Given the description of an element on the screen output the (x, y) to click on. 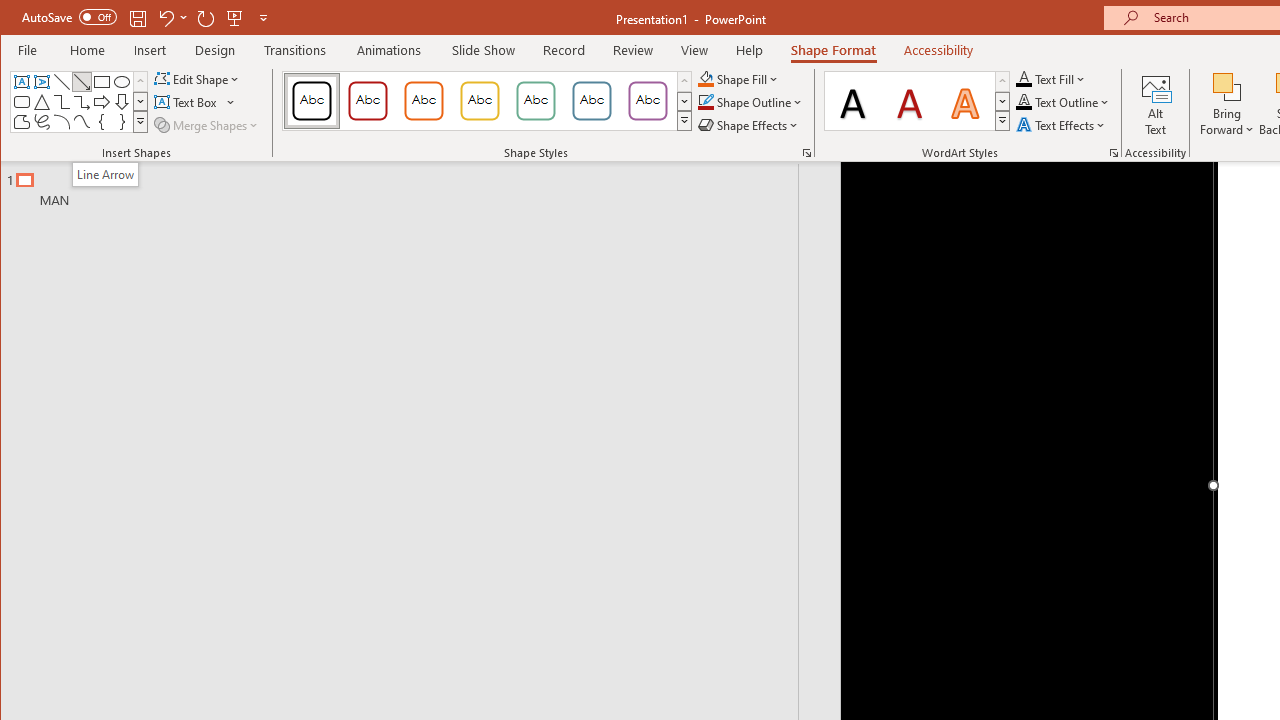
Colored Outline - Green, Accent 4 (536, 100)
Merge Shapes (207, 124)
Bring Forward (1227, 86)
Edit Shape (198, 78)
Bring Forward (1227, 104)
